Given the description of an element on the screen output the (x, y) to click on. 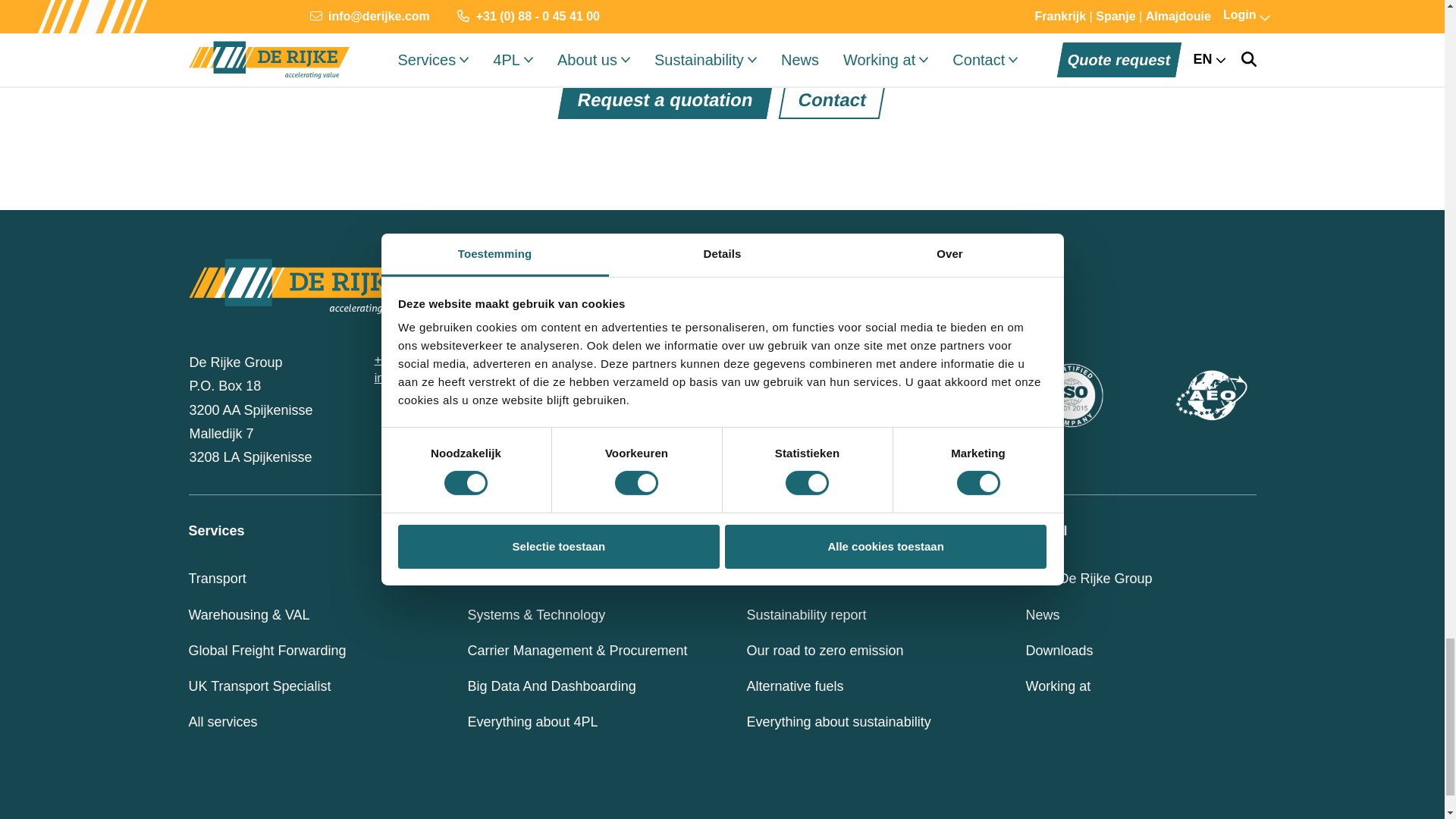
Request a quotation (662, 99)
